Given the description of an element on the screen output the (x, y) to click on. 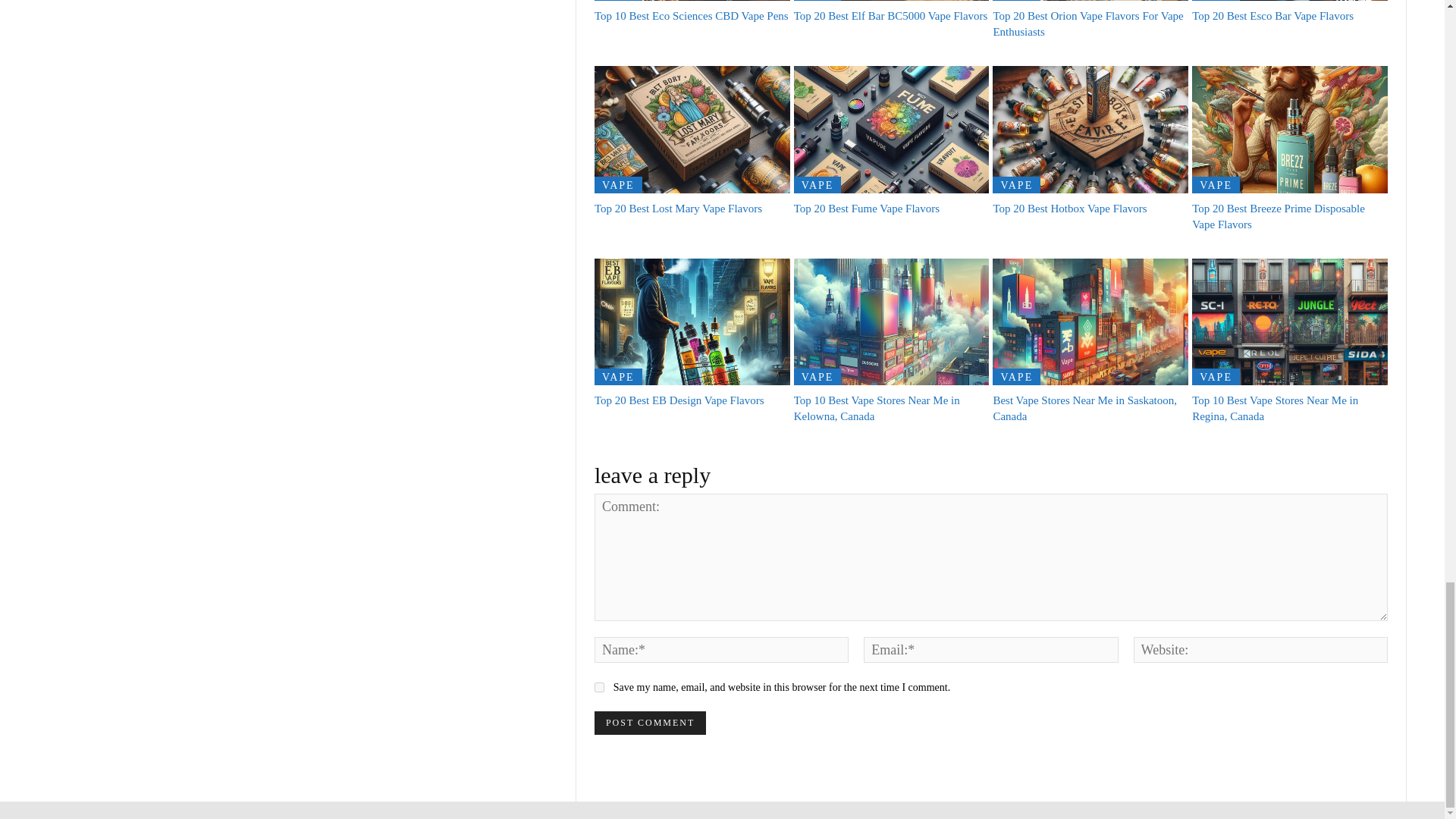
yes (599, 687)
Post Comment (650, 722)
